Given the description of an element on the screen output the (x, y) to click on. 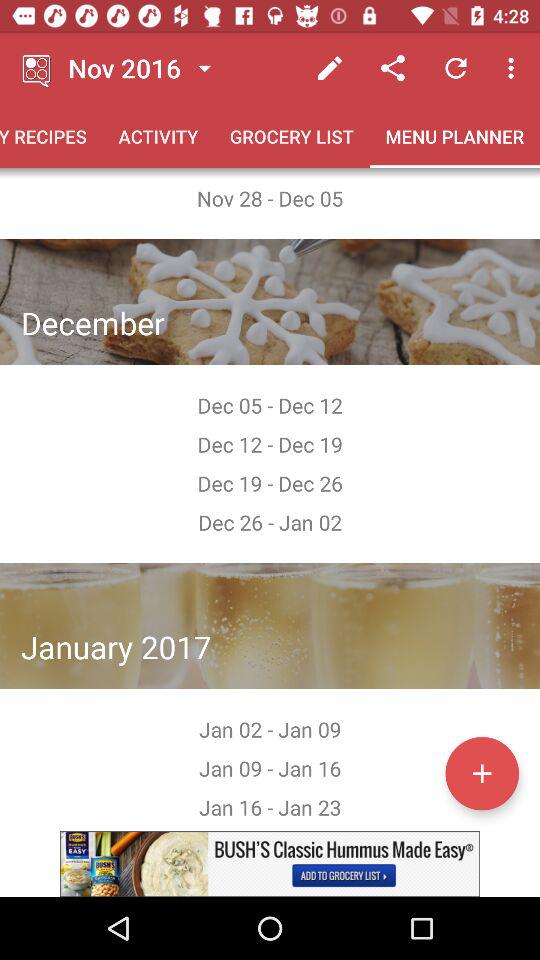
add the option (270, 864)
